Given the description of an element on the screen output the (x, y) to click on. 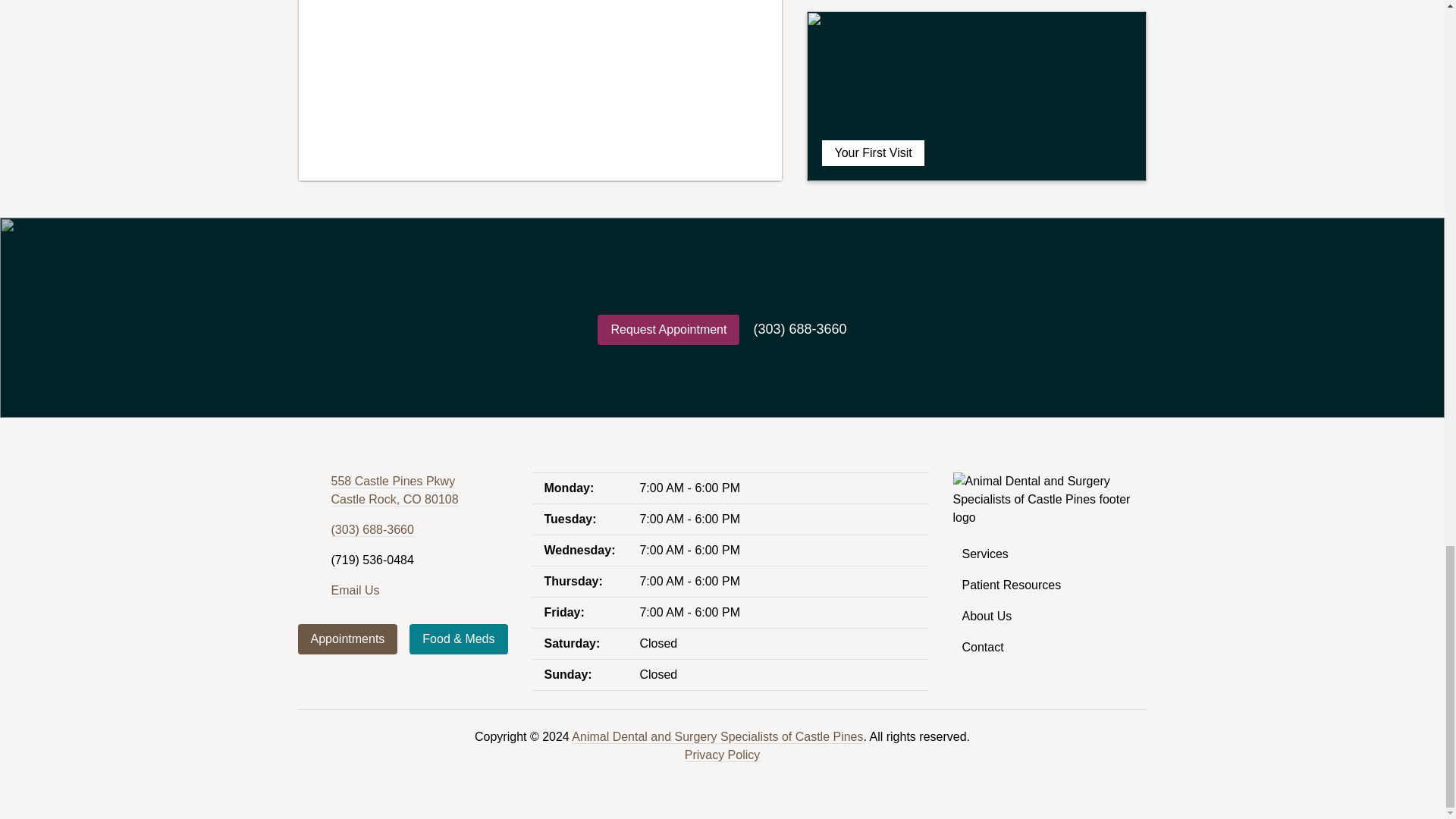
Appointments (347, 639)
Appointments (347, 639)
Request Appointment (667, 329)
Open this Address on Google Maps (394, 490)
Email Us (354, 590)
Your First Visit (976, 95)
Call Us (371, 530)
Email Us (394, 490)
